Given the description of an element on the screen output the (x, y) to click on. 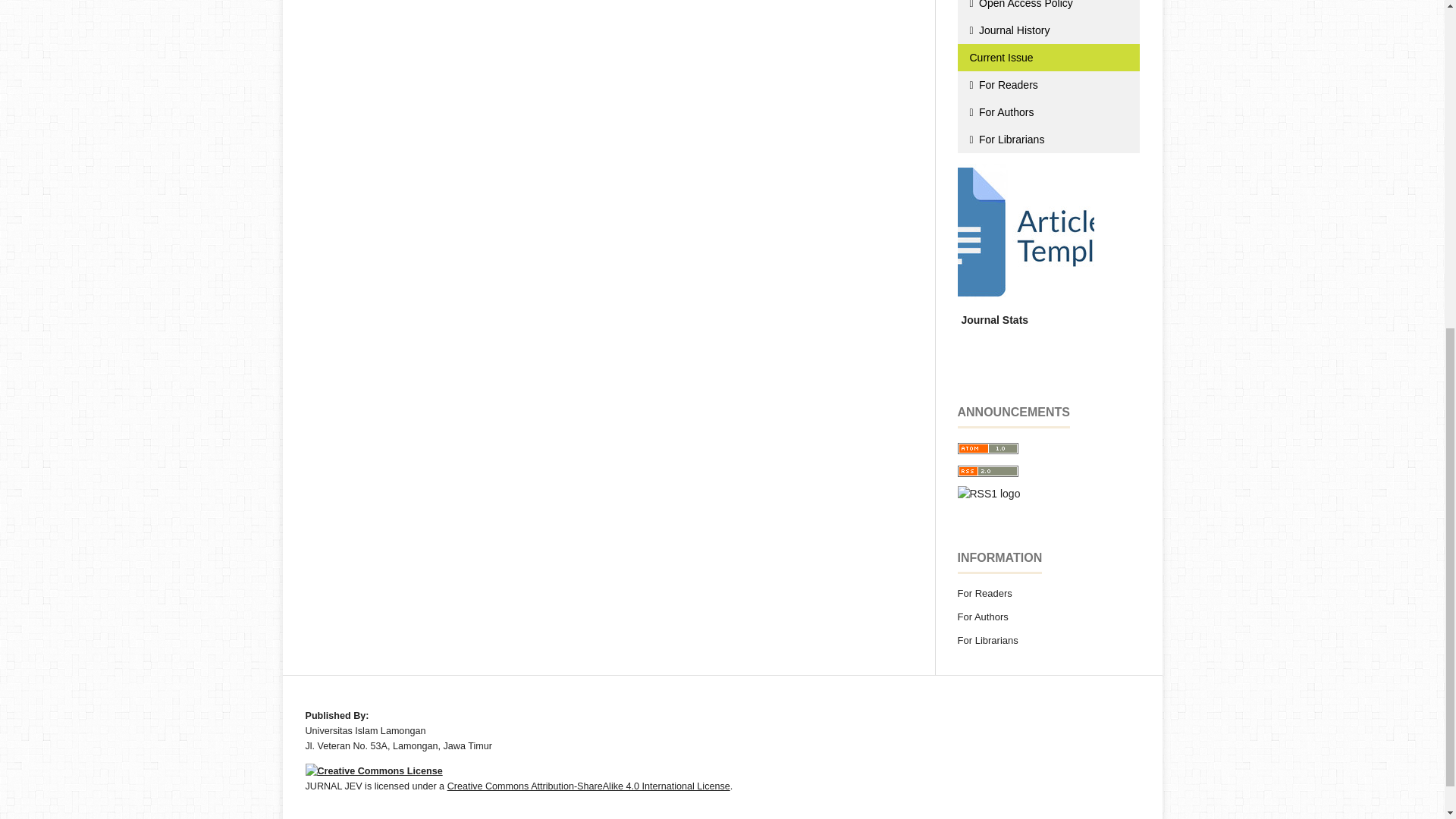
For Authors (1047, 104)
  Open Access Policy (1047, 4)
  For Authors (1047, 104)
For Readers (1047, 77)
  For Readers (1047, 77)
  Journal History (1047, 22)
Open Access Policy  (1047, 4)
  For Librarians (1047, 132)
Current Issue (1047, 50)
For Librarians (1047, 132)
Web Analytics Made Easy - StatCounter (991, 313)
